Given the description of an element on the screen output the (x, y) to click on. 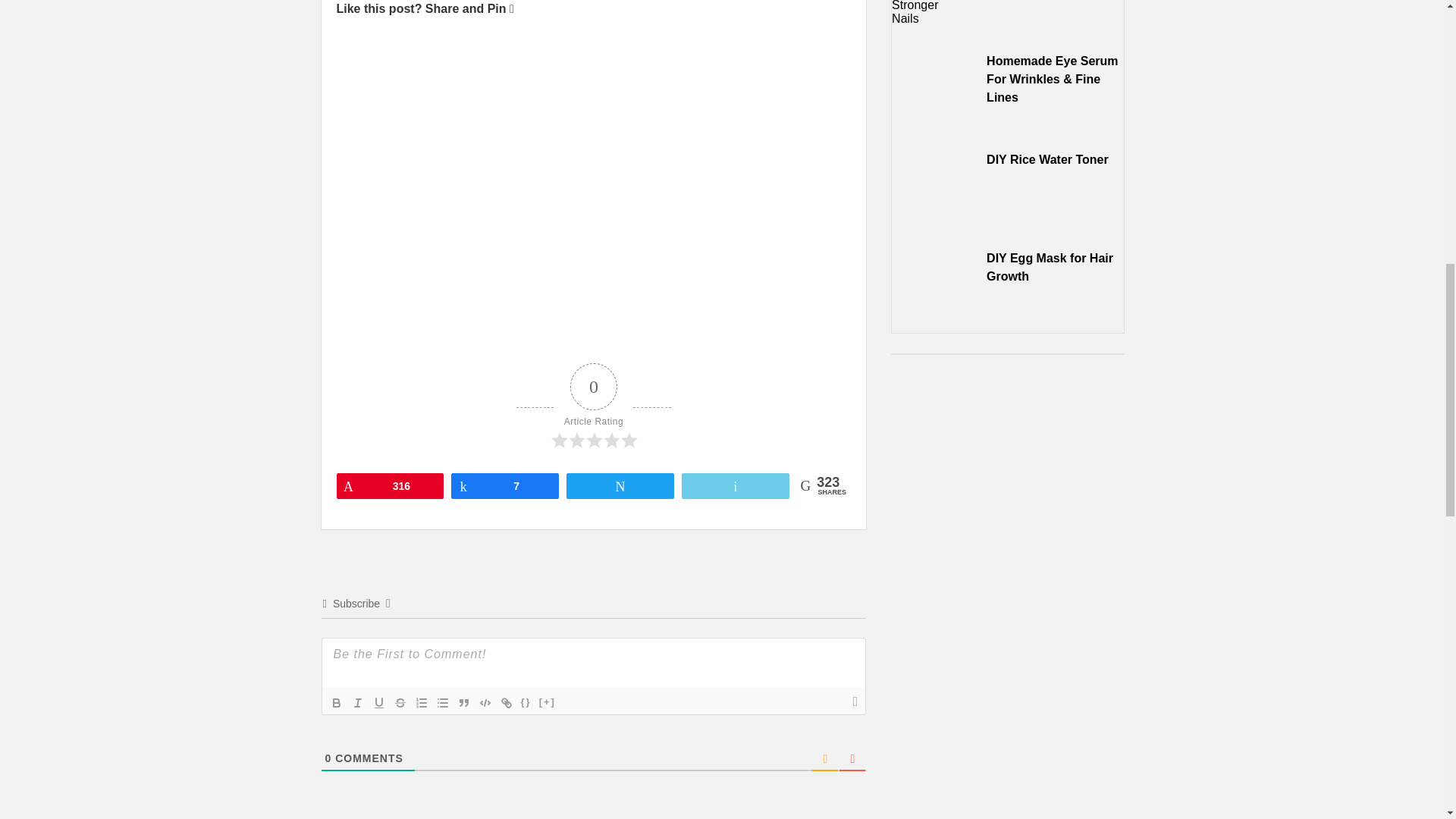
Bold (336, 702)
Spoiler (547, 702)
Ordered List (421, 702)
bullet (442, 702)
Unordered List (442, 702)
Source Code (525, 702)
Link (506, 702)
Code Block (485, 702)
Underline (379, 702)
ordered (421, 702)
316 (389, 485)
7 (504, 485)
Italic (357, 702)
Strike (400, 702)
Blockquote (463, 702)
